Given the description of an element on the screen output the (x, y) to click on. 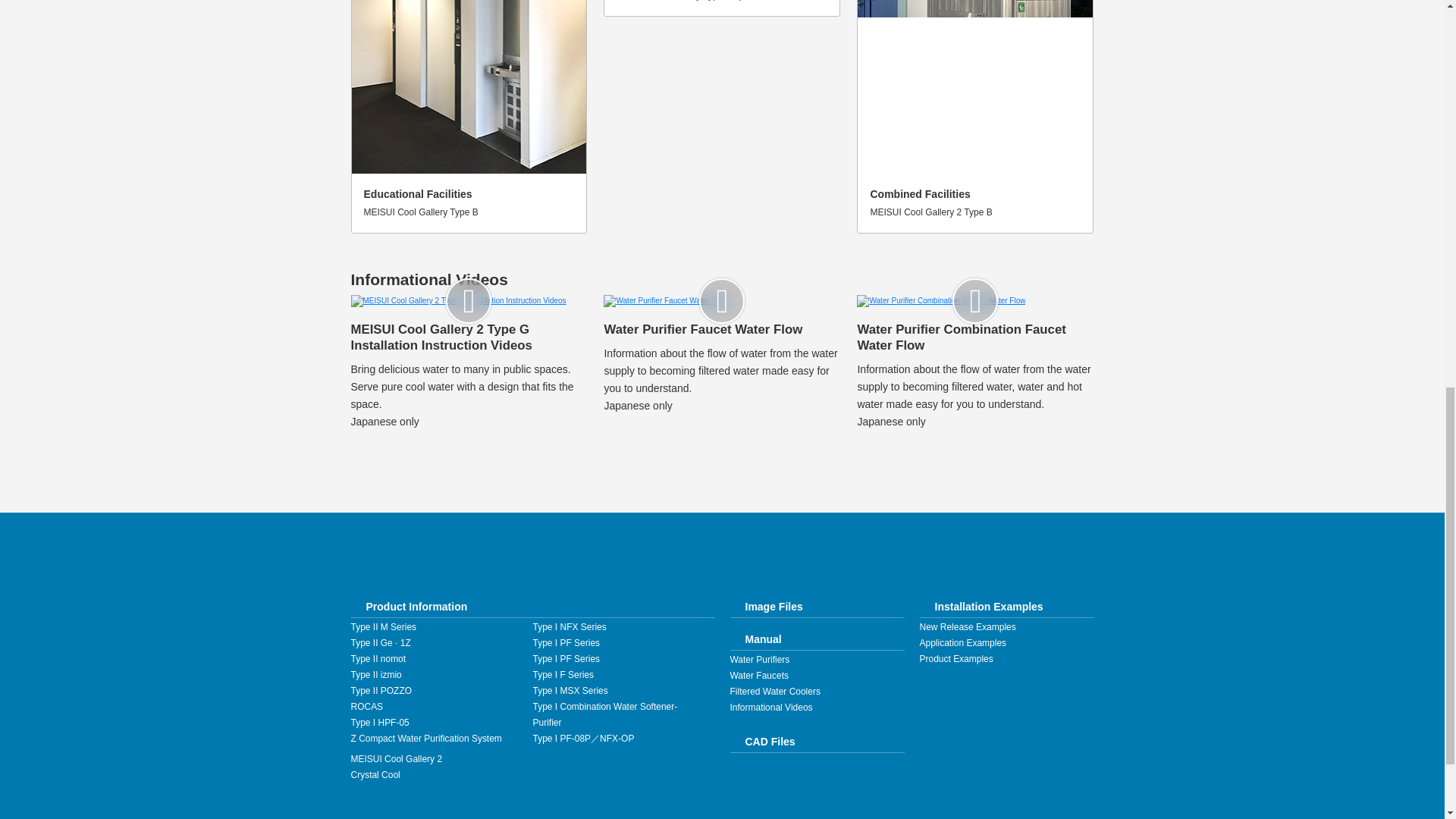
Play Video (722, 8)
Play Video (468, 116)
